Given the description of an element on the screen output the (x, y) to click on. 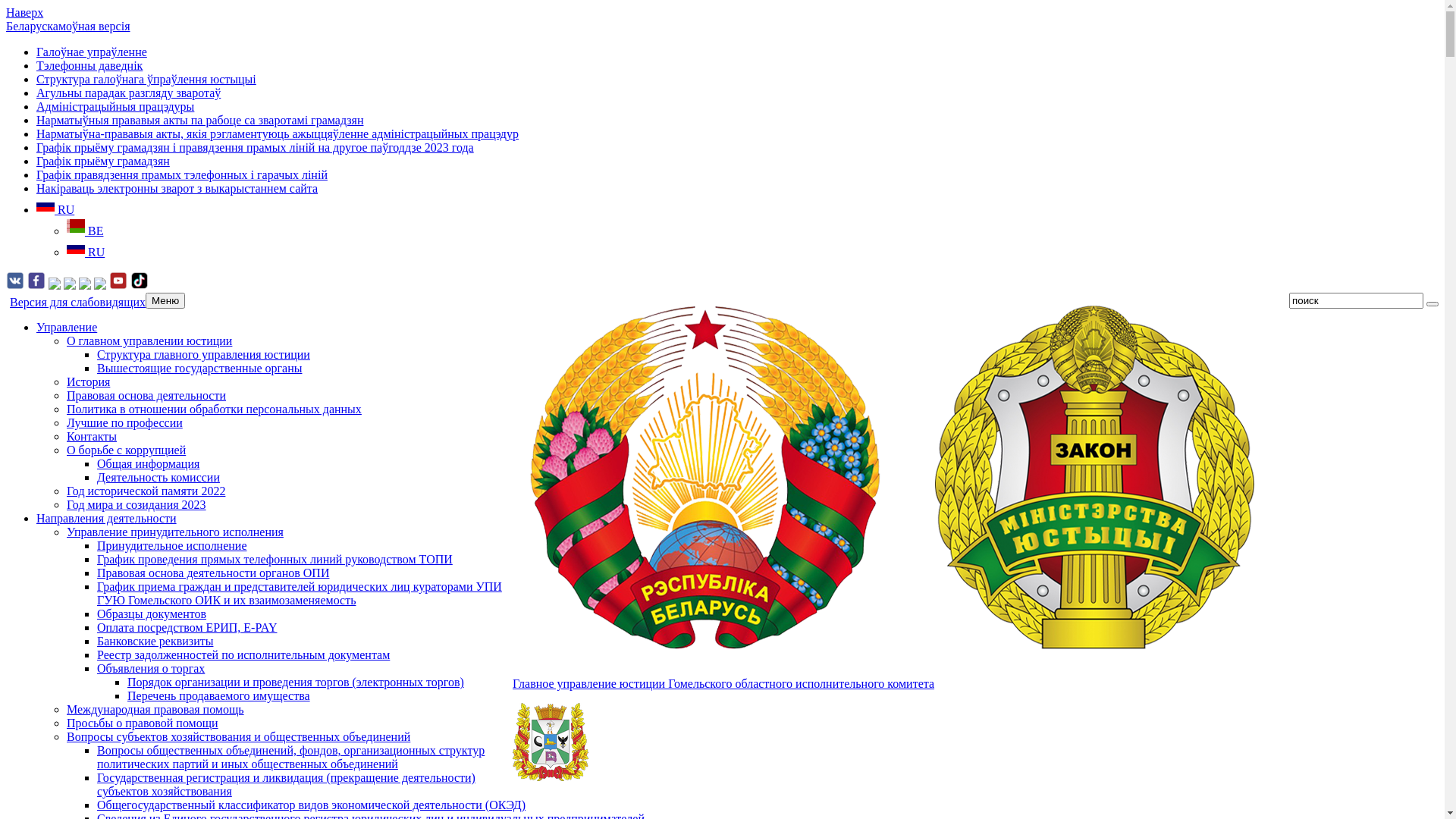
BE Element type: text (84, 230)
RU Element type: text (85, 251)
RU Element type: text (55, 209)
